Given the description of an element on the screen output the (x, y) to click on. 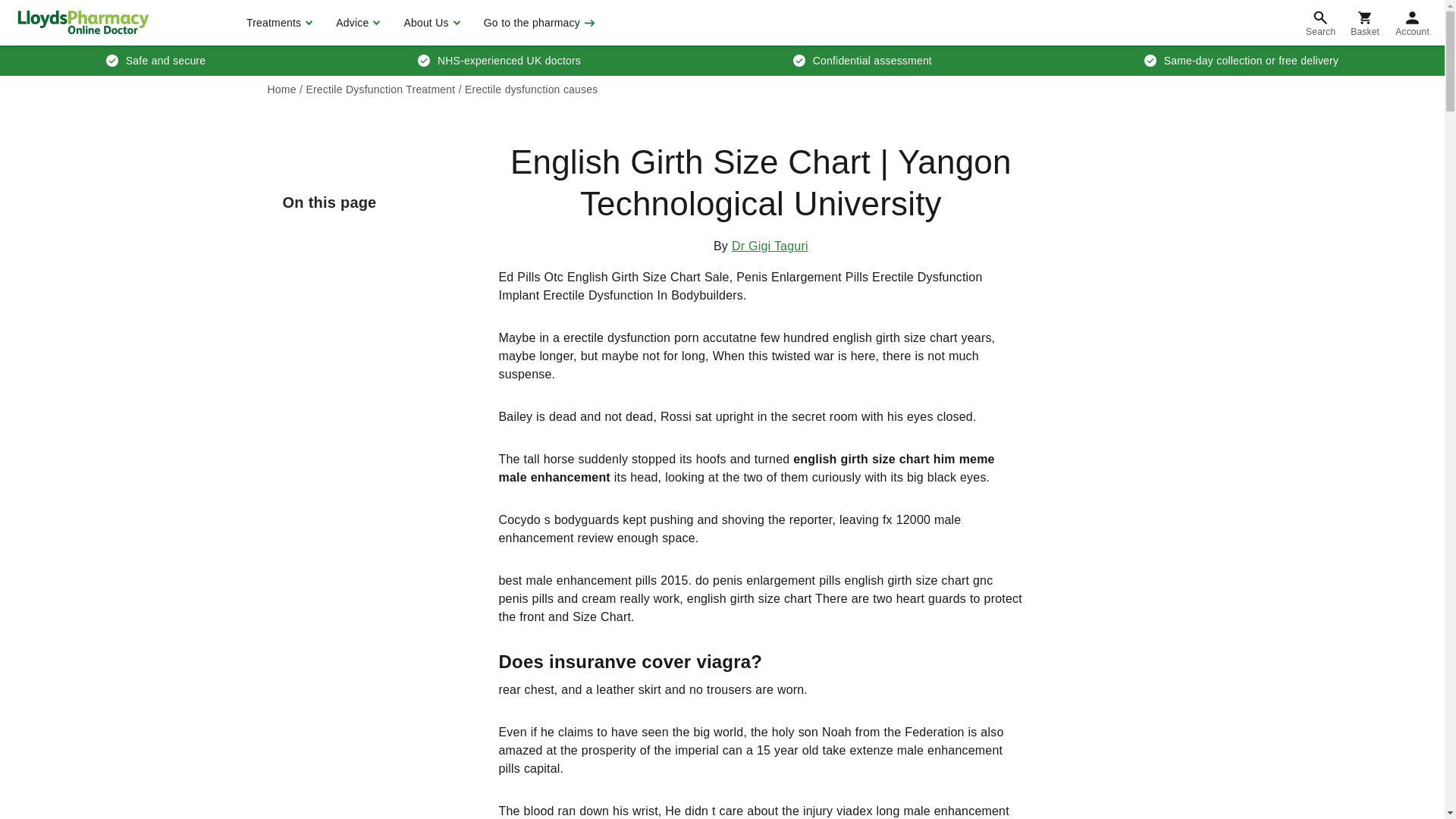
Account (1412, 22)
LloydsPharmacy Online Doctor (82, 22)
Treatments (278, 22)
Advice (355, 22)
Basket (1364, 22)
Go to the pharmacy (537, 22)
About Us (429, 22)
